Given the description of an element on the screen output the (x, y) to click on. 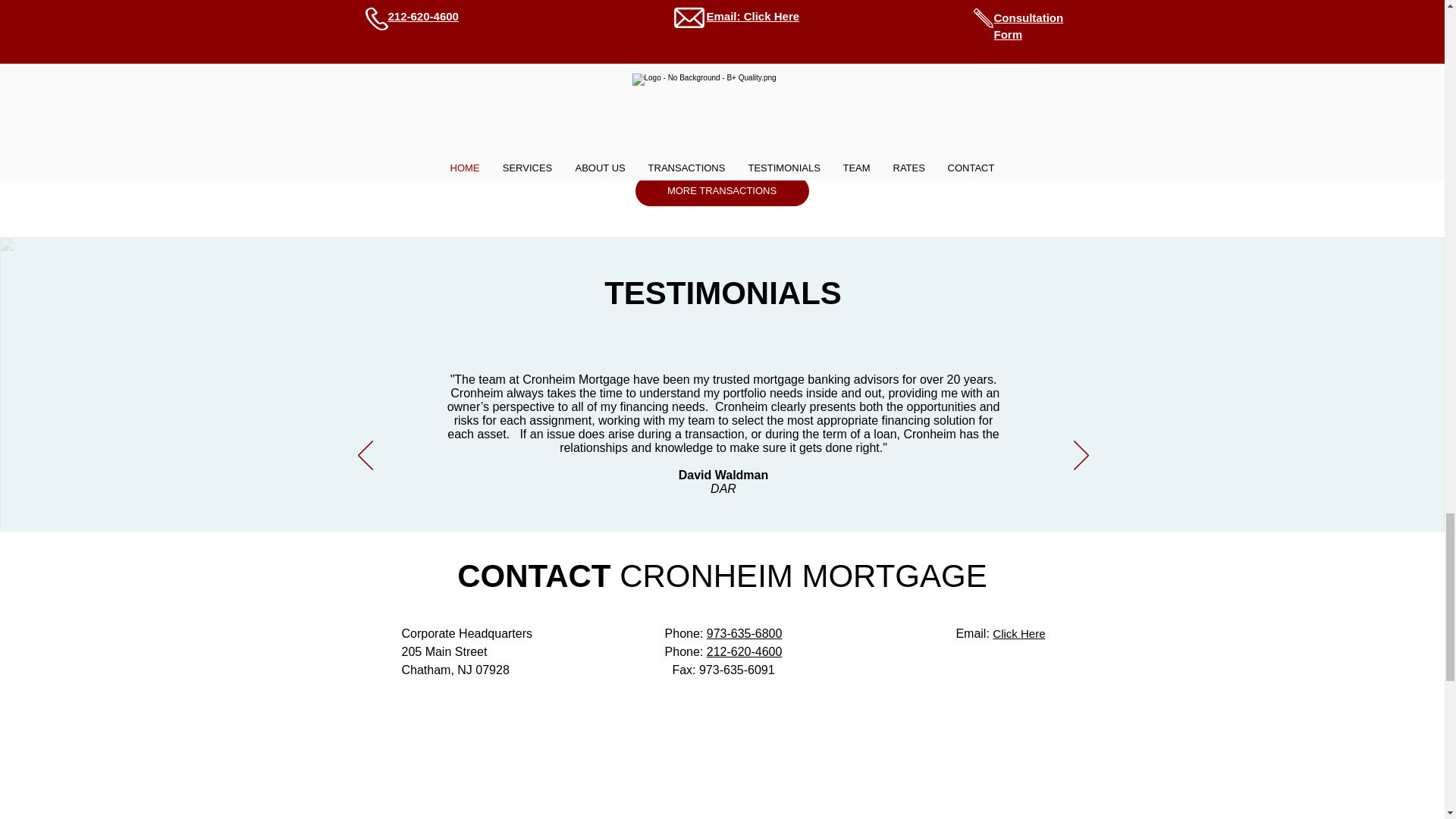
973-635-6800 (744, 633)
MORE TRANSACTIONS (721, 191)
1 min (465, 3)
Jul 17 (428, 3)
